Given the description of an element on the screen output the (x, y) to click on. 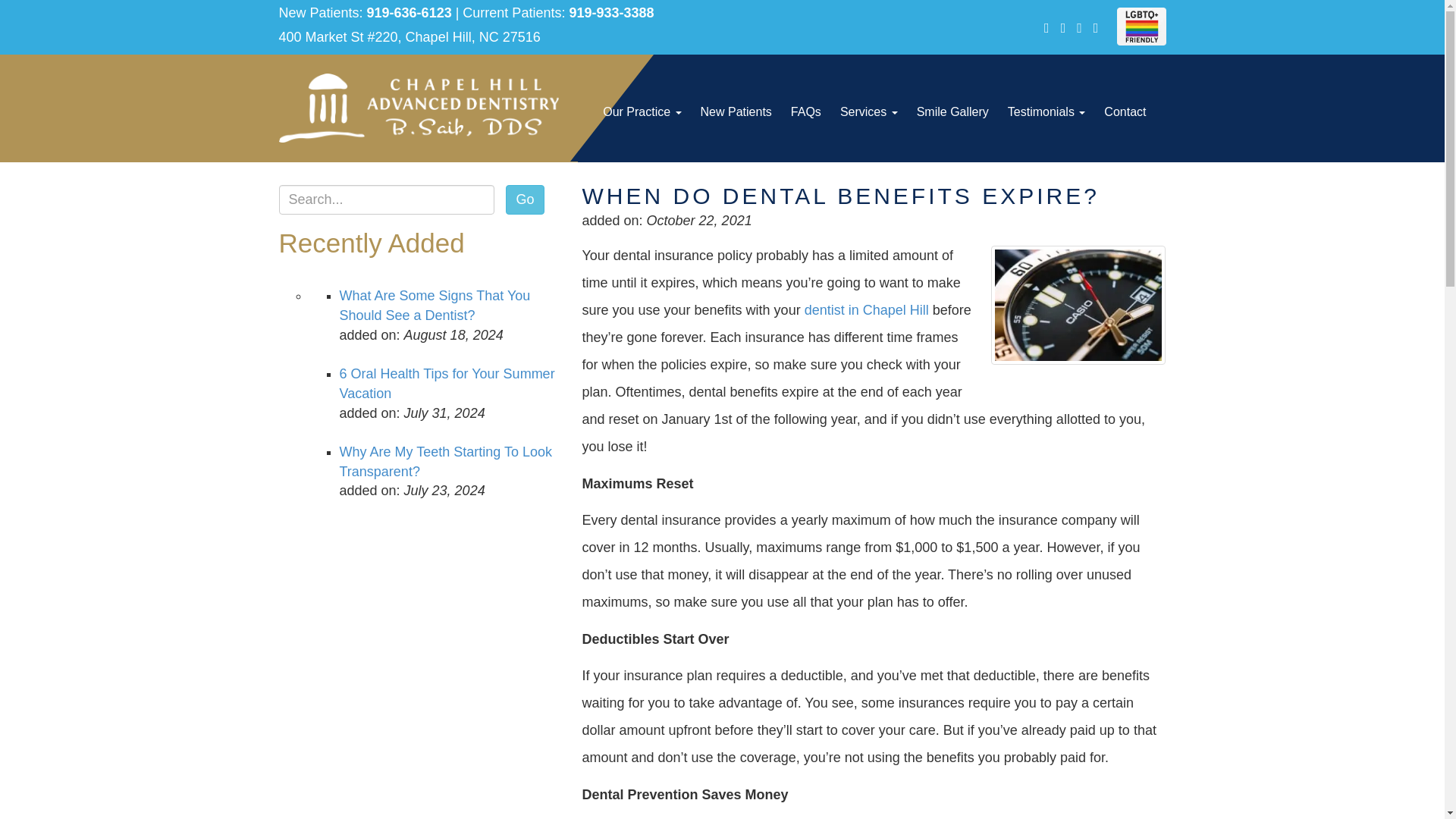
dentist in Chapel Hill (866, 309)
Contact (1124, 112)
919-933-3388 (611, 12)
Services (868, 112)
919-636-6123 (408, 12)
Chapel Hill Advanced Dentistry (419, 107)
Our Practice (641, 112)
FAQs (805, 112)
New Patients (735, 112)
Testimonials (1046, 112)
